Given the description of an element on the screen output the (x, y) to click on. 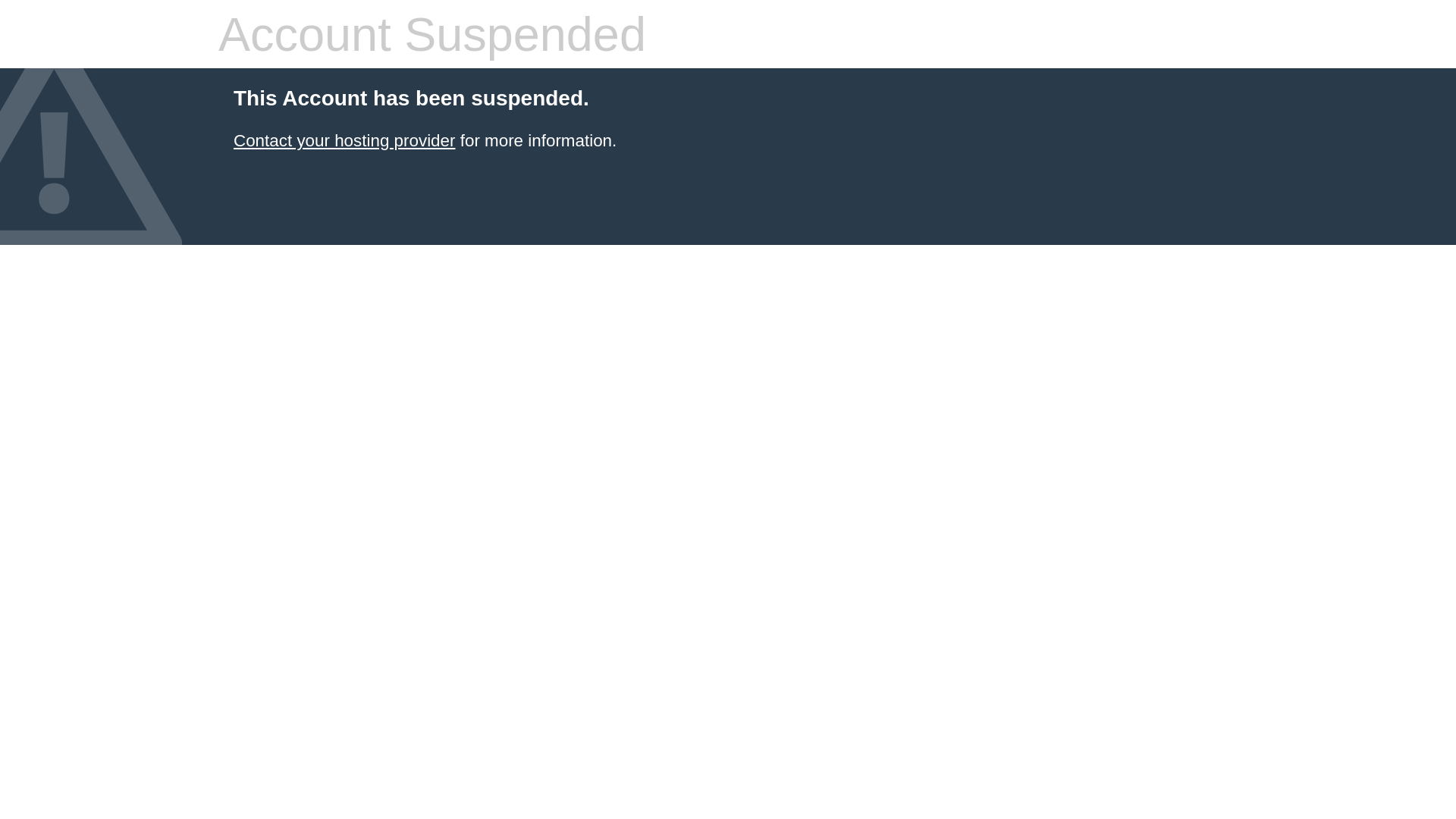
Contact your hosting provider Element type: text (344, 140)
